Given the description of an element on the screen output the (x, y) to click on. 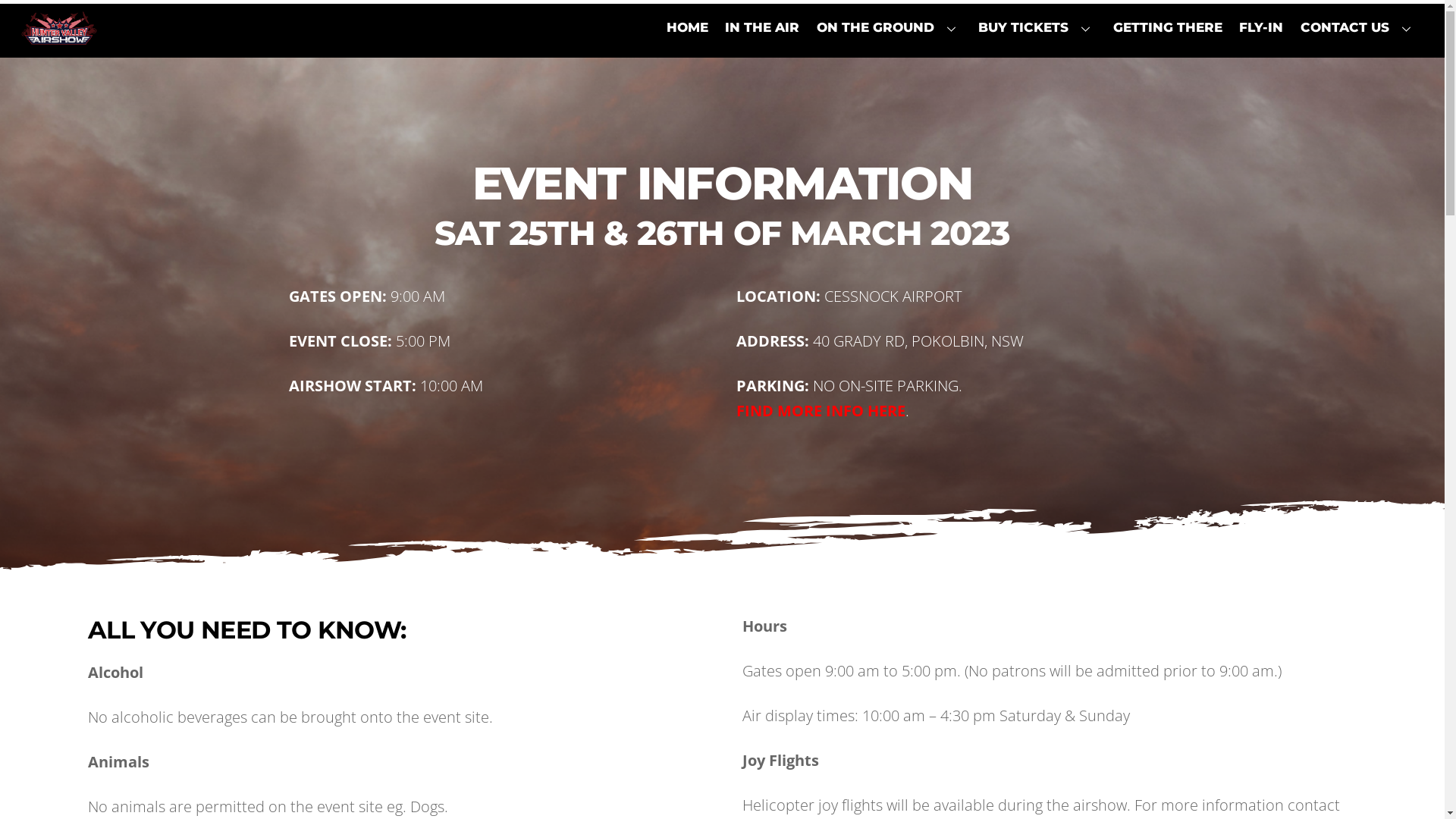
FIND MORE INFO HERE Element type: text (820, 410)
IN THE AIR Element type: text (762, 27)
HOME Element type: text (686, 27)
BUY TICKETS Element type: text (1036, 27)
GETTING THERE Element type: text (1167, 27)
CONTACT US Element type: text (1358, 27)
Hunter Valley Airshow Element type: hover (59, 34)
FLY-IN Element type: text (1261, 27)
HVairshow-site logo Element type: hover (59, 27)
ON THE GROUND Element type: text (888, 27)
